Given the description of an element on the screen output the (x, y) to click on. 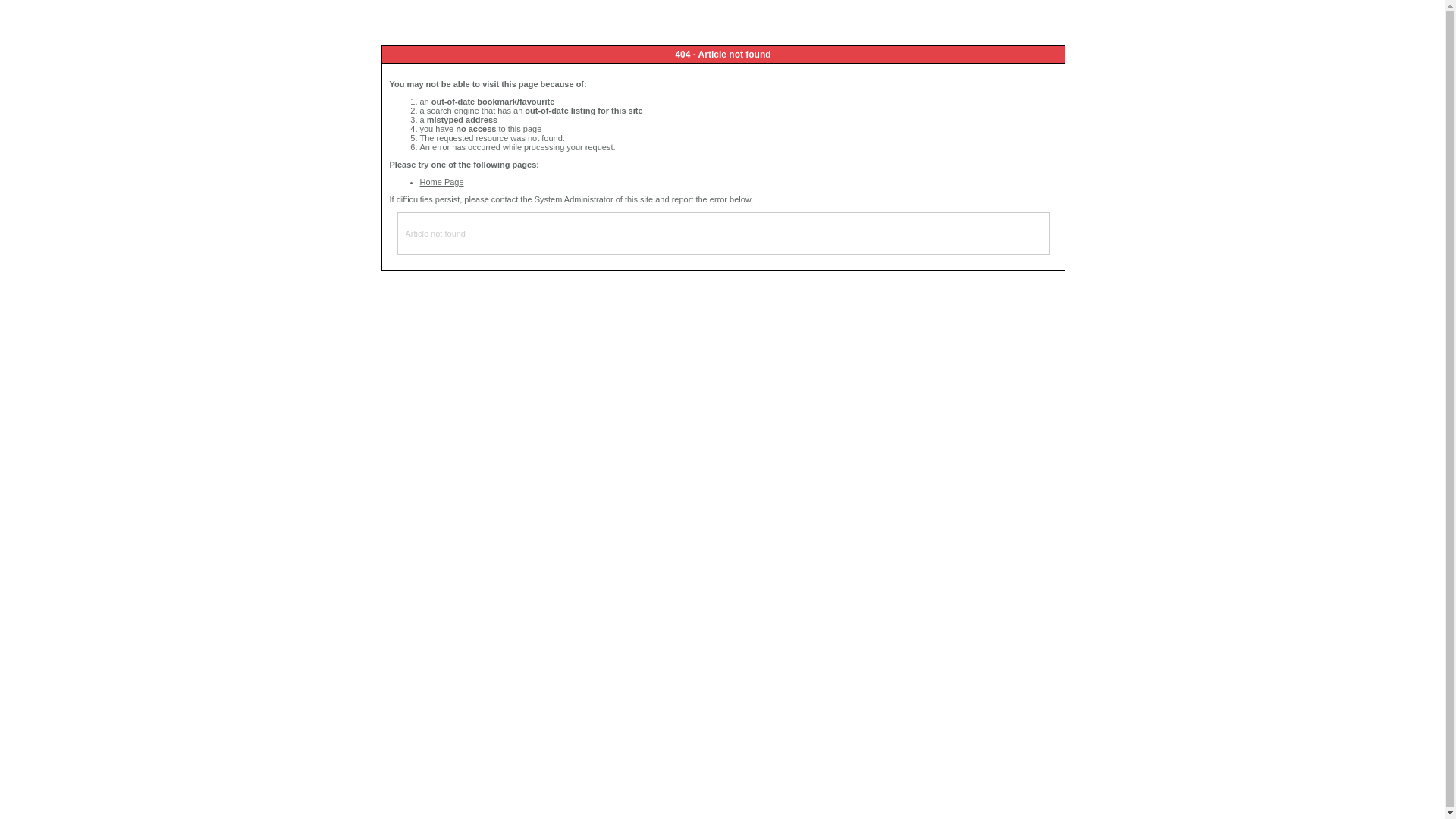
Home Page Element type: text (442, 181)
